Given the description of an element on the screen output the (x, y) to click on. 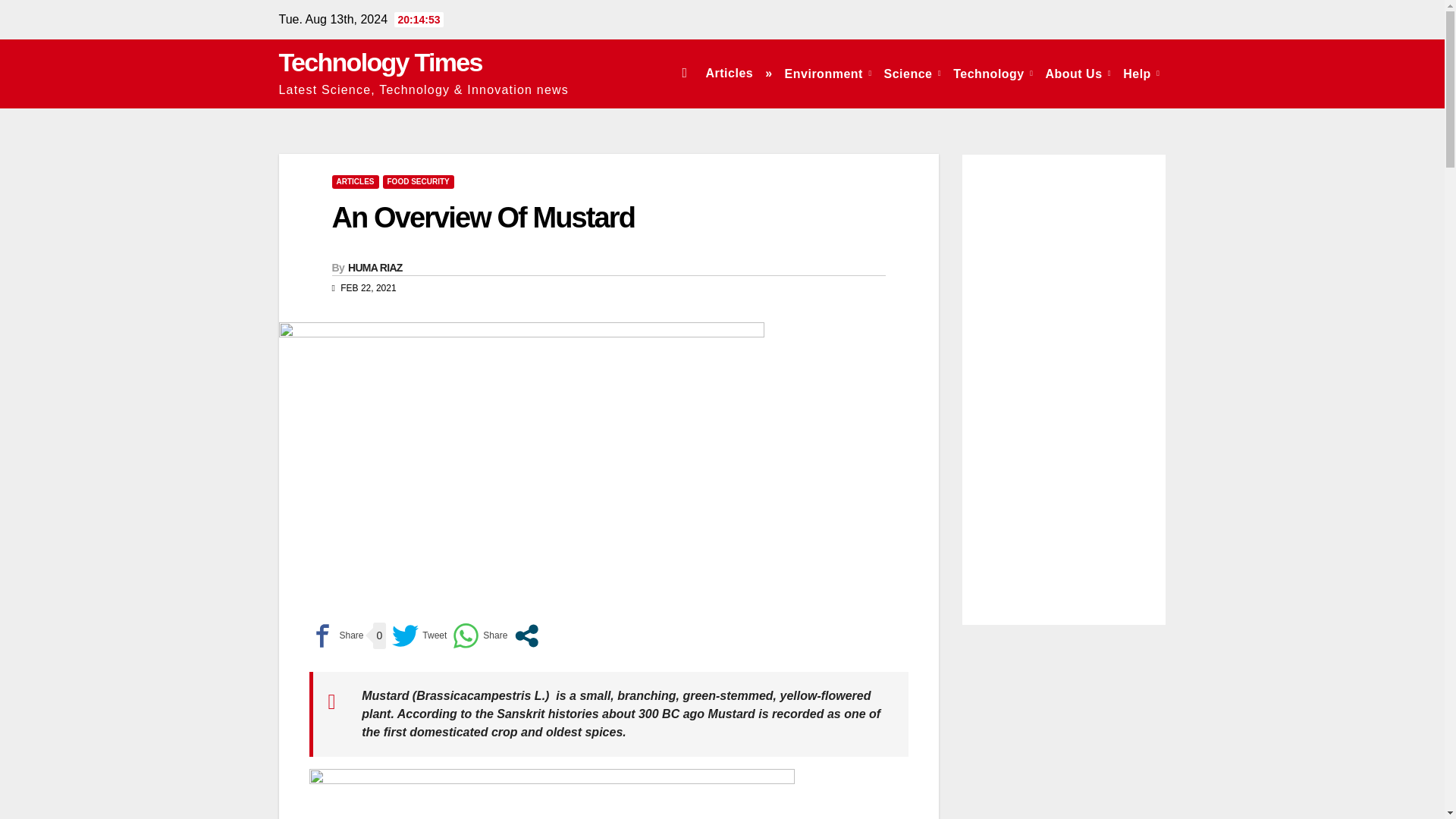
Science (912, 73)
Science (912, 73)
Technology (993, 73)
About Us (1077, 73)
Environment (827, 73)
Technology Times (380, 61)
Technology (993, 73)
Environment (827, 73)
